Given the description of an element on the screen output the (x, y) to click on. 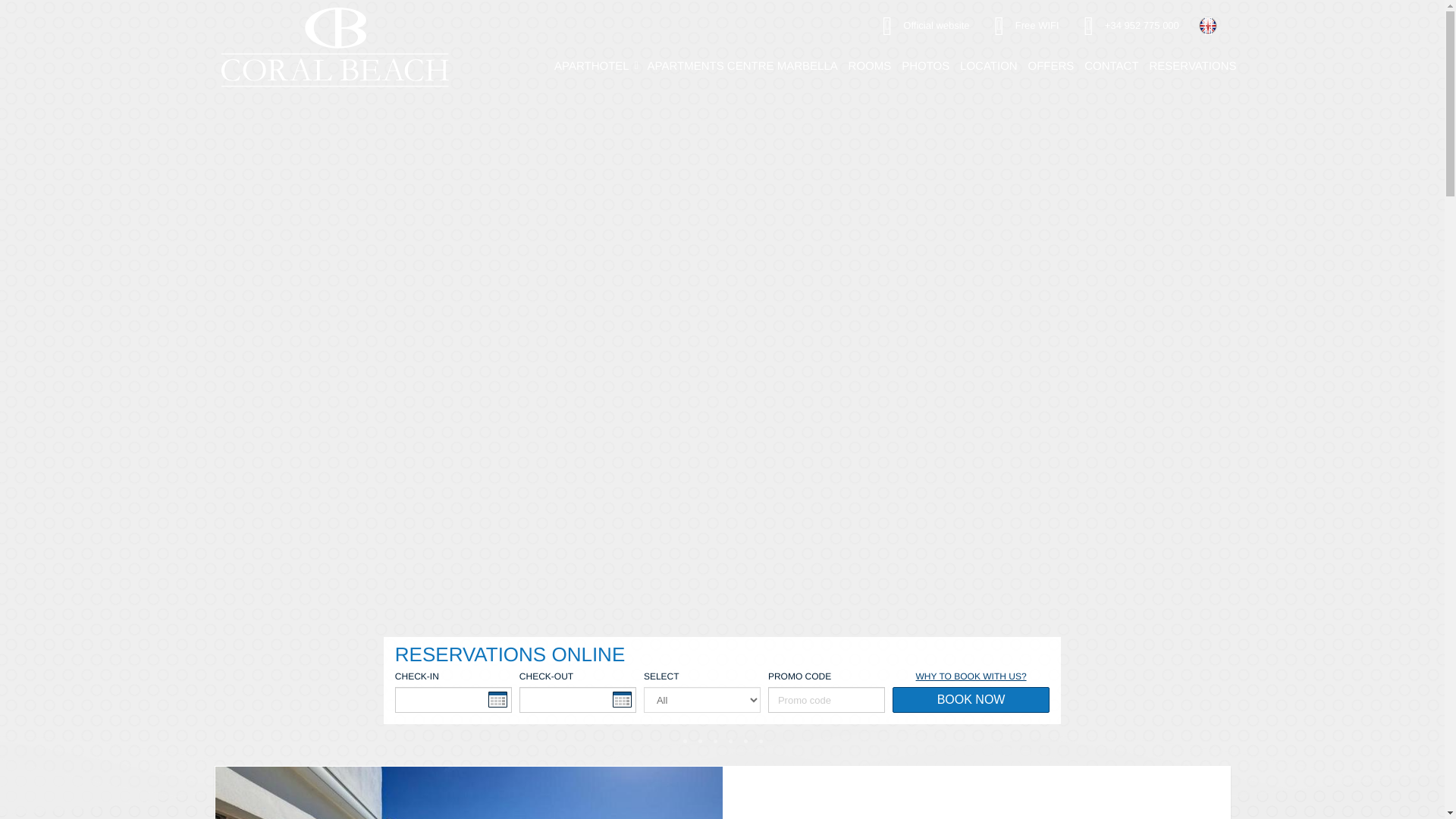
Apartments Centre Marbella  (742, 65)
Official website (921, 26)
Free WIFI (1022, 26)
CONTACT (1110, 65)
LOCATION (988, 65)
Photos (925, 65)
OFFERS (1051, 65)
PHOTOS (925, 65)
RESERVATIONS (1192, 65)
Rooms (869, 65)
Aparthotel (595, 65)
ROOMS (869, 65)
APARTHOTEL (595, 65)
APARTMENTS CENTRE MARBELLA (742, 65)
